Given the description of an element on the screen output the (x, y) to click on. 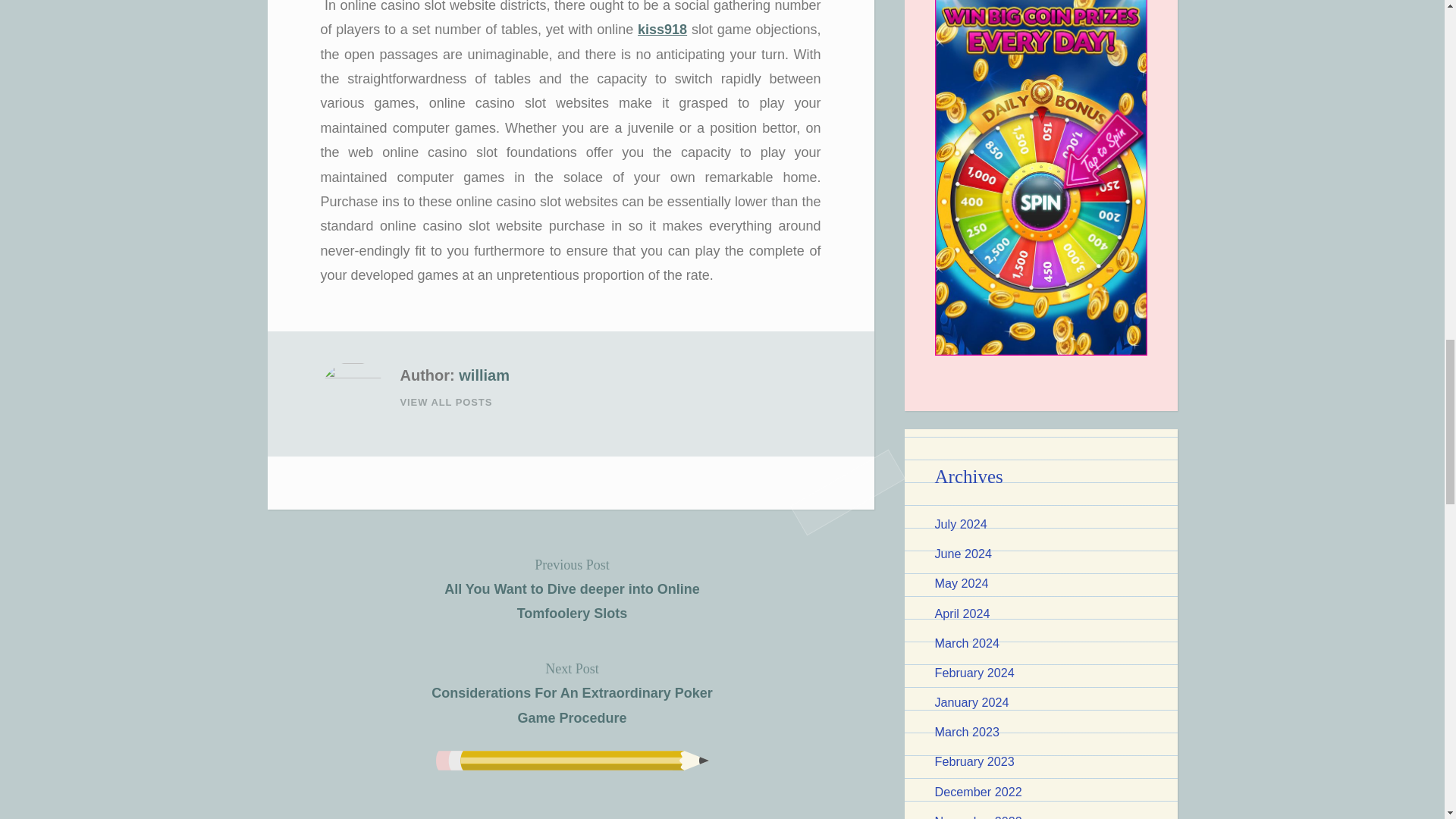
April 2024 (962, 612)
May 2024 (961, 582)
June 2024 (962, 553)
January 2024 (971, 702)
March 2024 (966, 643)
February 2024 (973, 672)
July 2024 (960, 523)
VIEW ALL POSTS (610, 402)
kiss918 (662, 29)
